Given the description of an element on the screen output the (x, y) to click on. 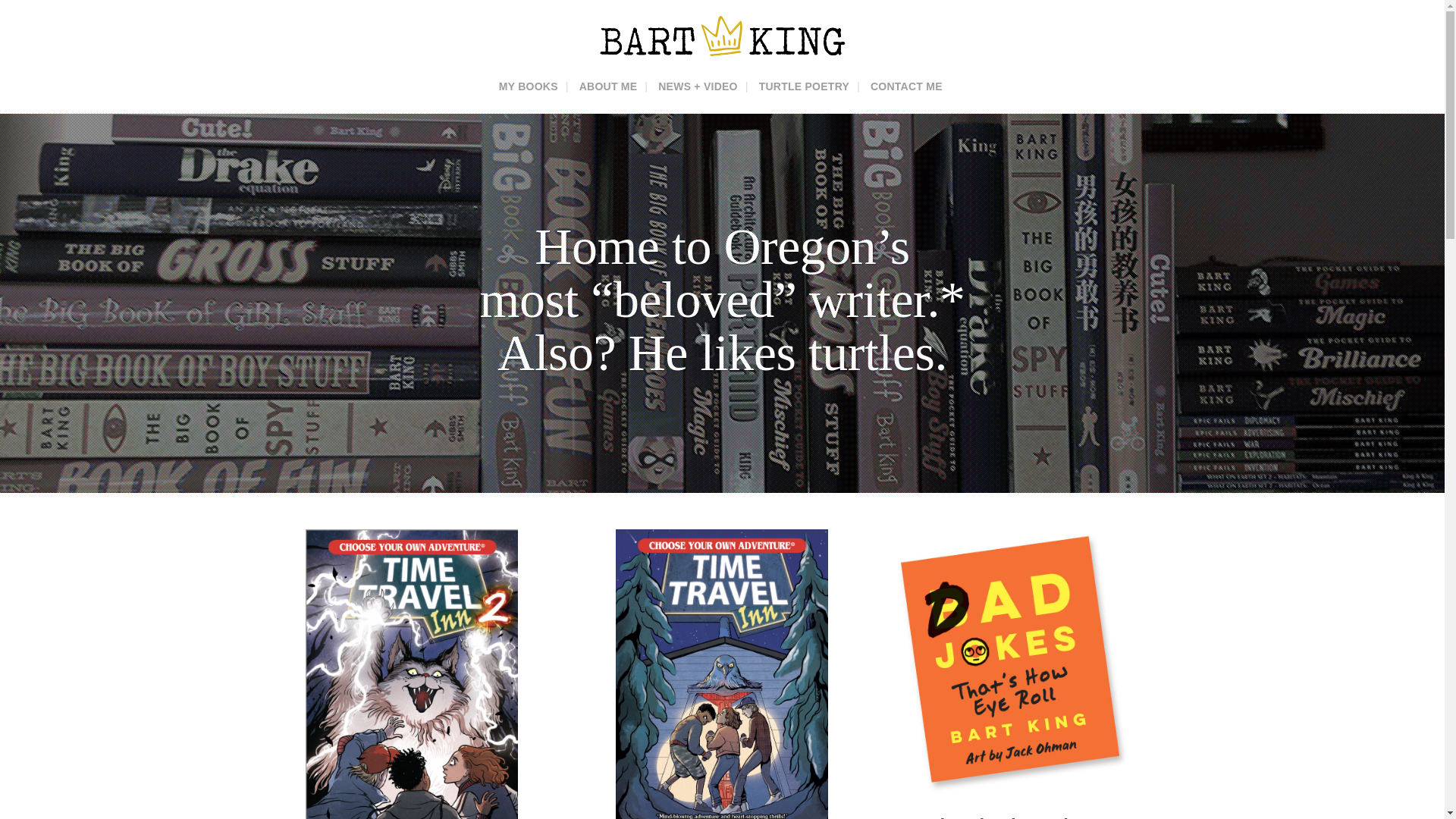
ABOUT ME (608, 85)
MY BOOKS (528, 85)
CONTACT ME (906, 85)
TURTLE POETRY (804, 85)
